Given the description of an element on the screen output the (x, y) to click on. 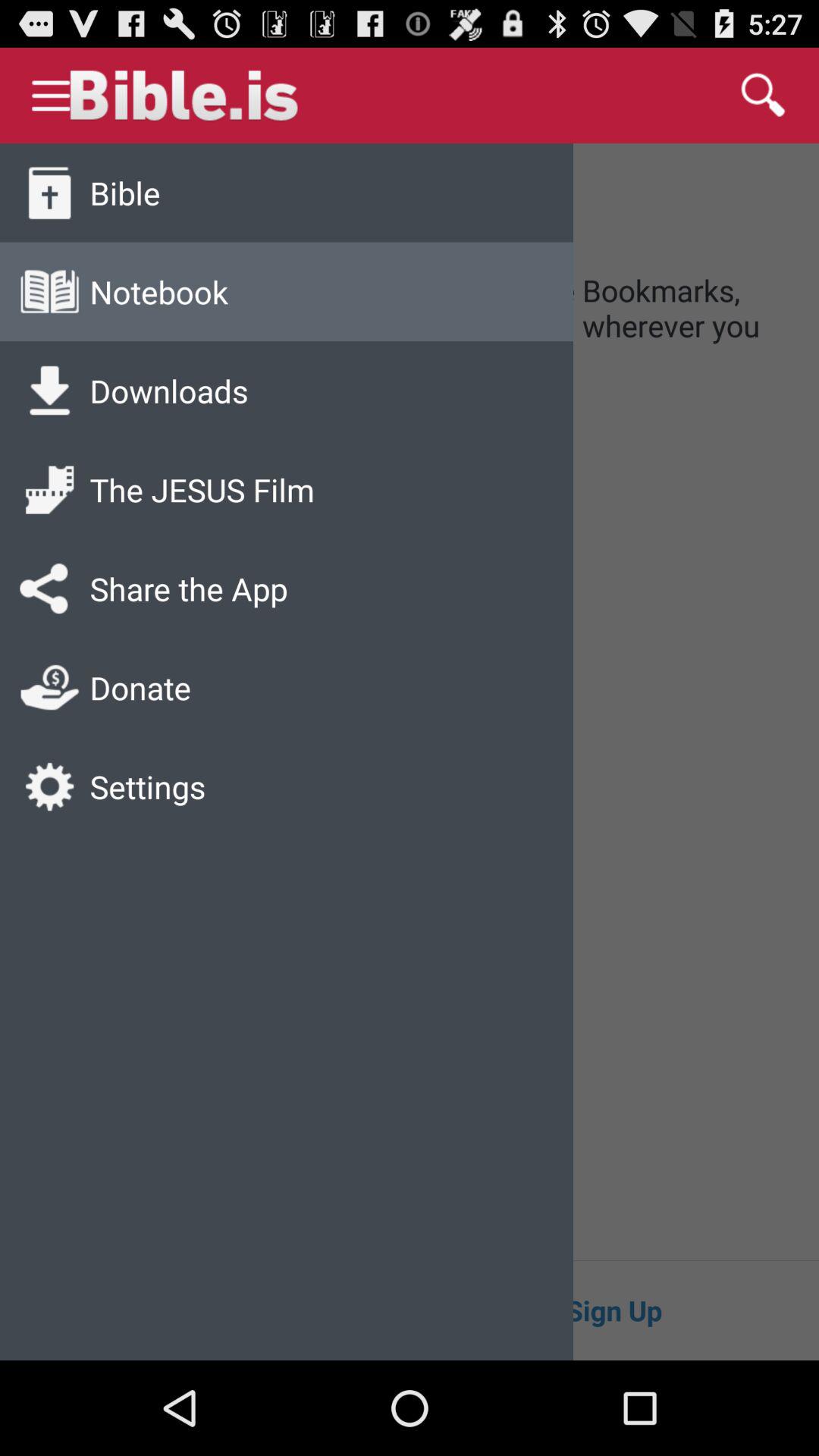
select the donate icon (49, 687)
select bibleis (251, 95)
click on the icon beside the jesus film (49, 489)
click on the icon which is beside notebook (49, 291)
click on the icon which is beside downloads (49, 390)
